Given the description of an element on the screen output the (x, y) to click on. 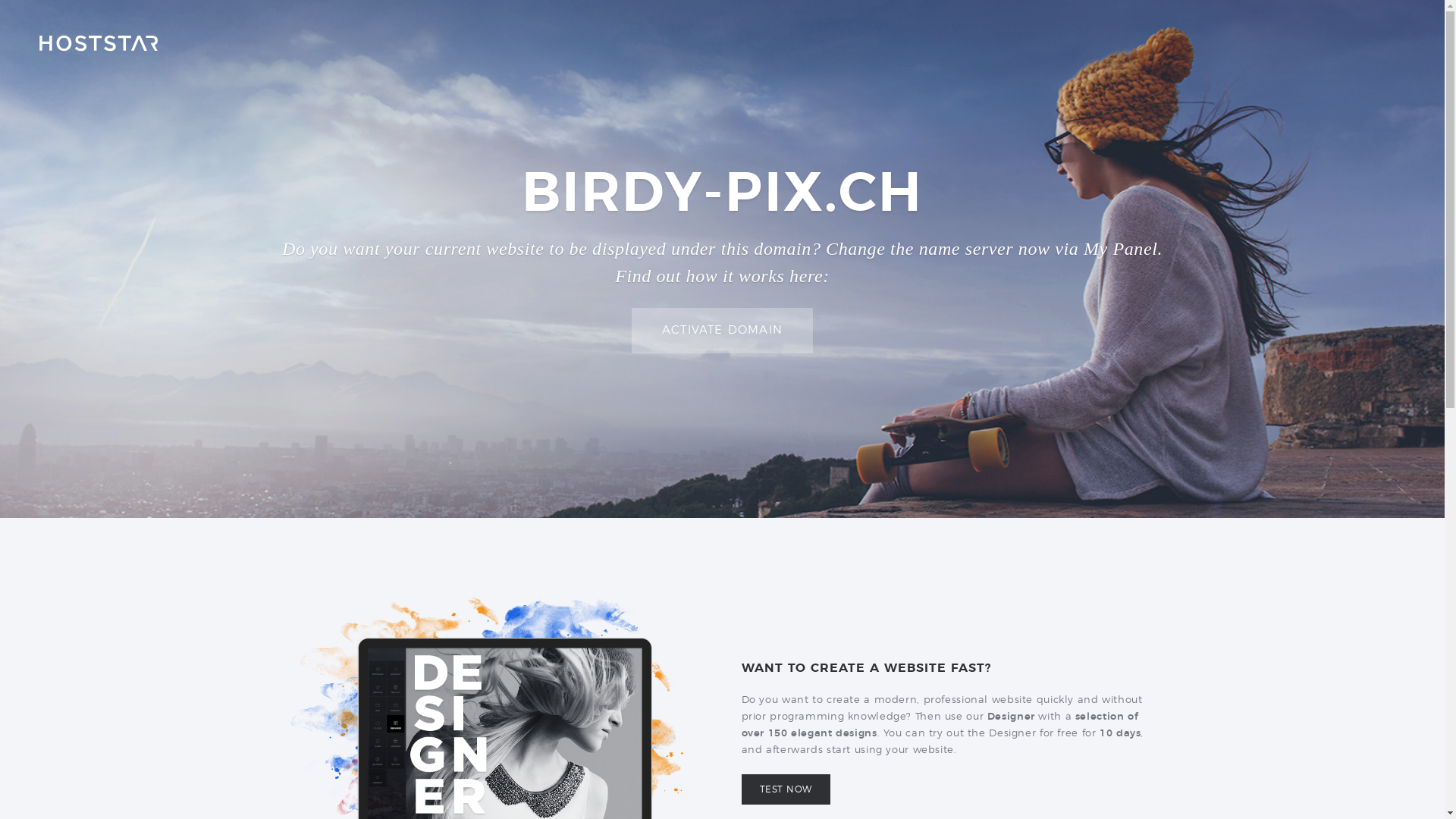
ACTIVATE DOMAIN Element type: text (721, 330)
TEST NOW Element type: text (785, 789)
ACTIVATE DOMAIN Element type: text (721, 330)
